Given the description of an element on the screen output the (x, y) to click on. 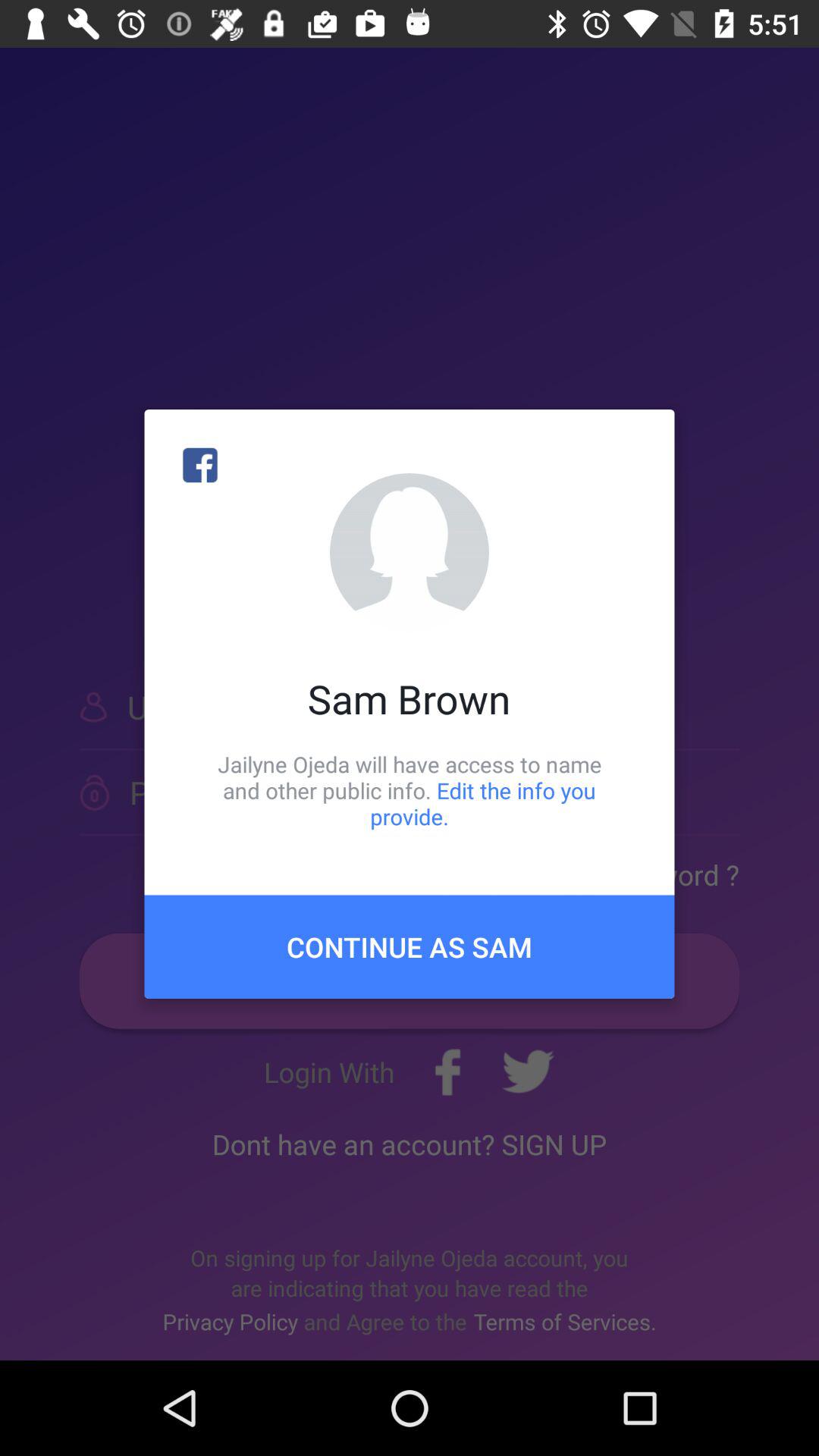
swipe until the jailyne ojeda will icon (409, 790)
